Given the description of an element on the screen output the (x, y) to click on. 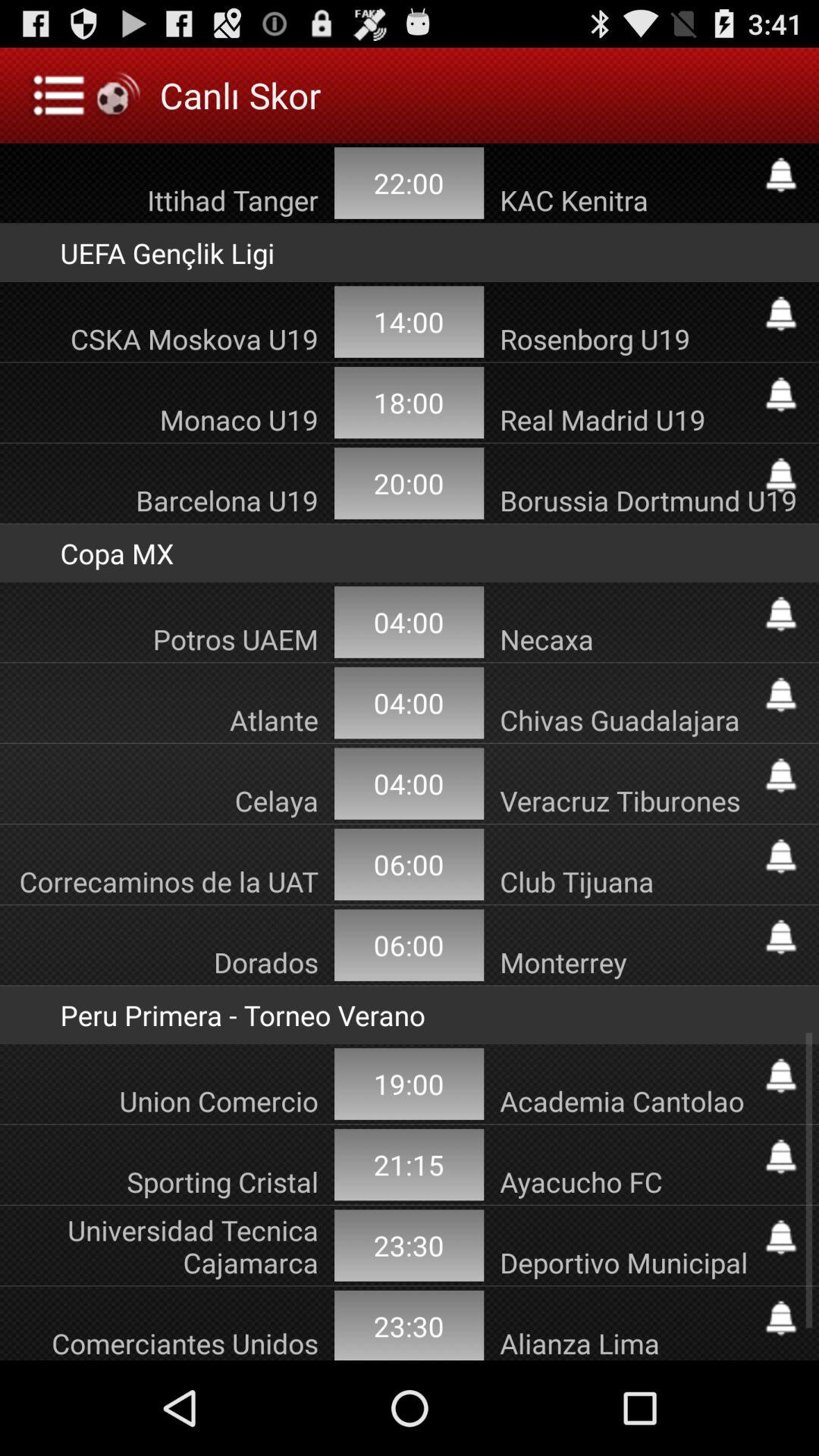
sets an alert for sports game (780, 313)
